Given the description of an element on the screen output the (x, y) to click on. 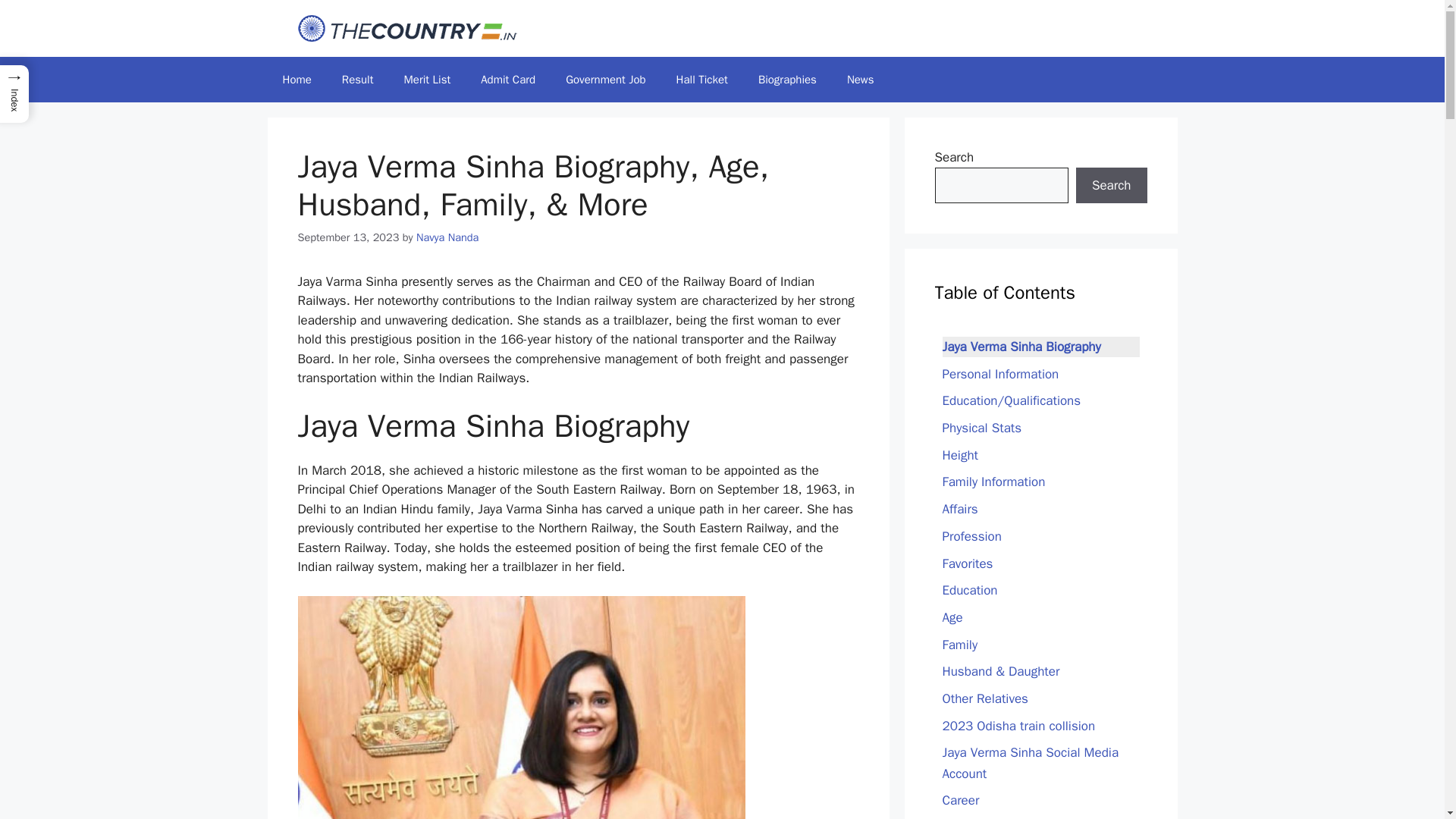
Navya Nanda (447, 237)
Jaya Verma Sinha Biography (1021, 346)
Family Information (993, 481)
News (860, 79)
Other Relatives (984, 698)
View all posts by Navya Nanda (447, 237)
2023 Odisha train collision (1018, 725)
Hall Ticket (701, 79)
Age (952, 617)
Jaya Verma Sinha Biography (1021, 346)
Personal Information (1000, 373)
Education (969, 589)
Personal Information (1000, 373)
Profession (971, 536)
Height (960, 455)
